Given the description of an element on the screen output the (x, y) to click on. 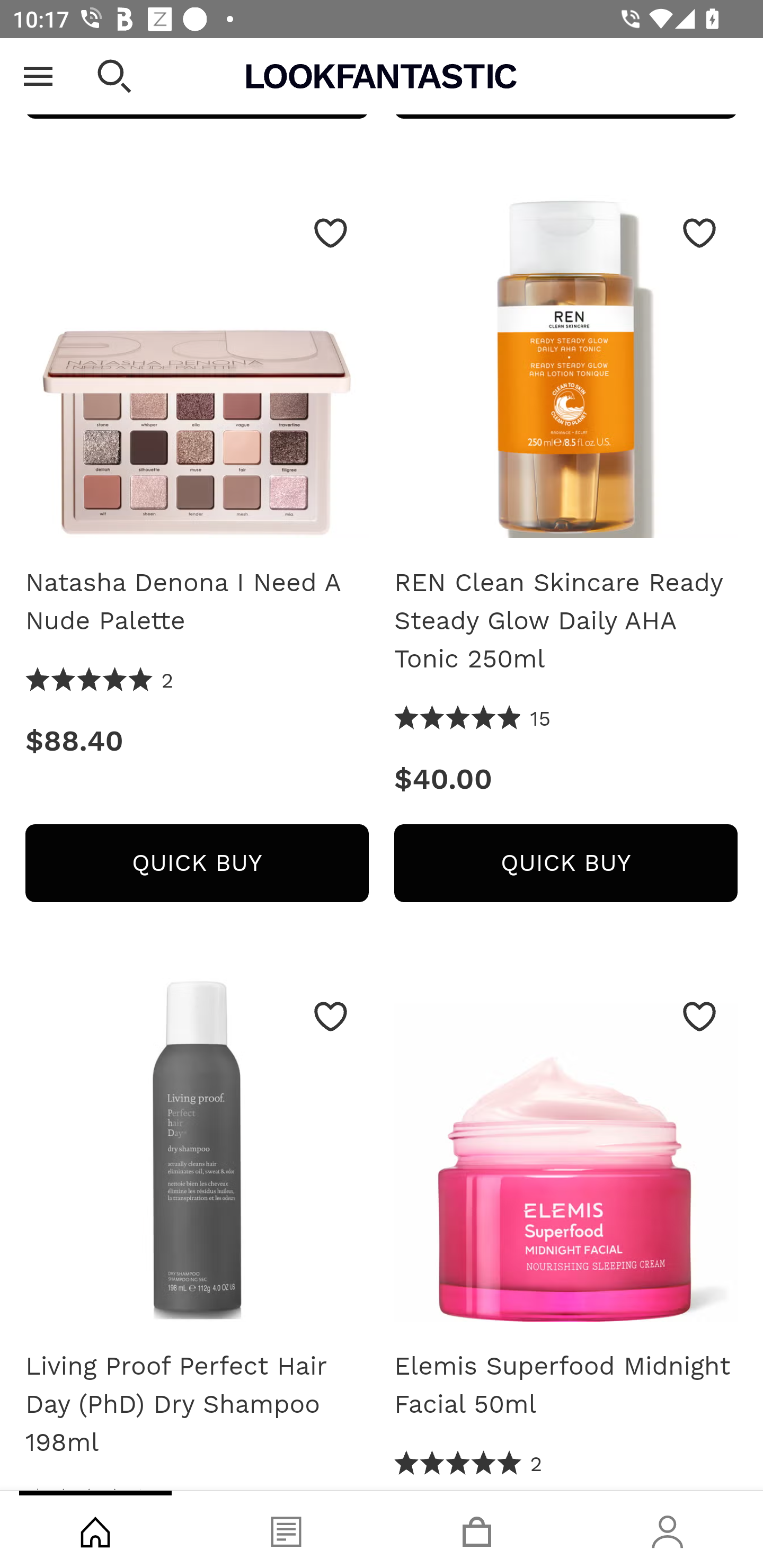
Natasha Denona I Need A Nude Palette (196, 374)
Save to Wishlist (330, 234)
Save to Wishlist (698, 234)
Natasha Denona I Need A Nude Palette (196, 603)
5.0 Stars 2 Reviews (99, 682)
4.93 Stars 15 Reviews (472, 720)
Price: $88.40 (196, 742)
Price: $40.00 (565, 780)
QUICK BUY NATASHA DENONA I NEED A NUDE PALETTE (196, 864)
Elemis Superfood Midnight Facial 50ml (565, 1156)
Save to Wishlist (330, 1017)
Save to Wishlist (698, 1017)
Elemis Superfood Midnight Facial 50ml (565, 1385)
5.0 Stars 2 Reviews (468, 1465)
Shop, tab, 1 of 4 (95, 1529)
Blog, tab, 2 of 4 (285, 1529)
Basket, tab, 3 of 4 (476, 1529)
Account, tab, 4 of 4 (667, 1529)
